Given the description of an element on the screen output the (x, y) to click on. 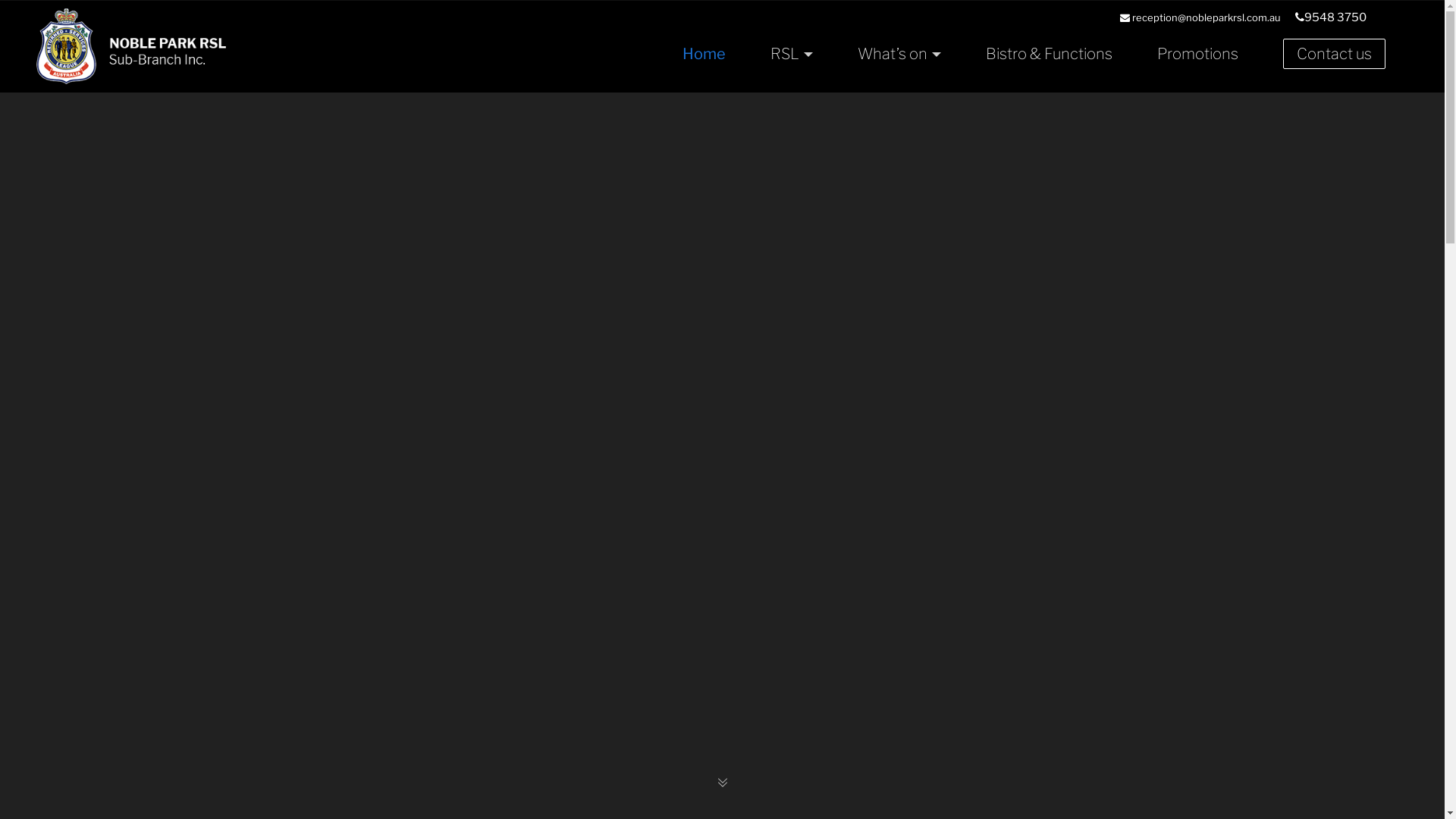
Home Element type: text (703, 53)
RSL Element type: text (791, 53)
Promotions Element type: text (1197, 53)
Contact us Element type: text (1334, 53)
9548 3750 Element type: text (1330, 17)
Bistro & Functions Element type: text (1048, 53)
